Given the description of an element on the screen output the (x, y) to click on. 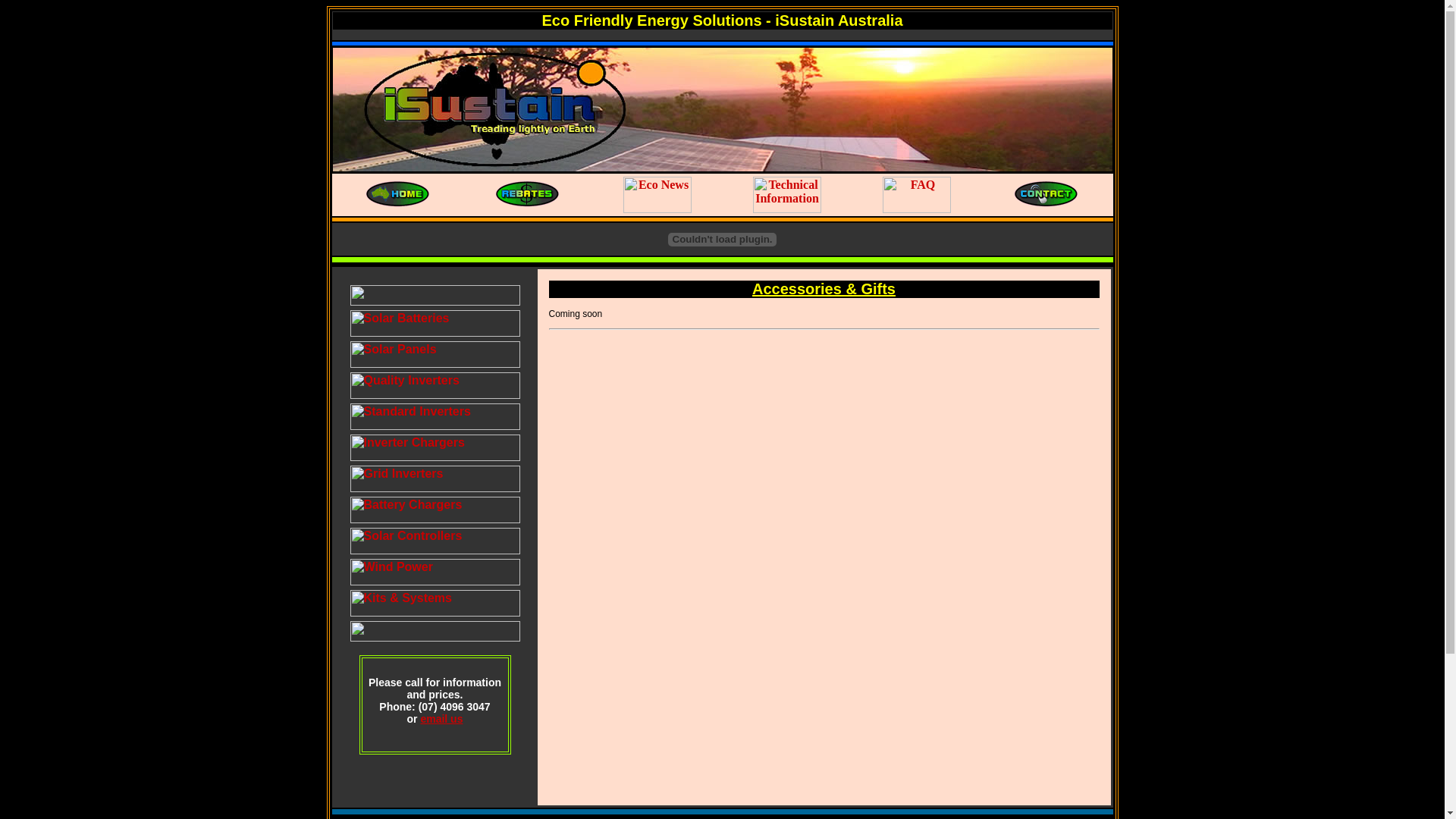
email us Element type: text (441, 718)
